Given the description of an element on the screen output the (x, y) to click on. 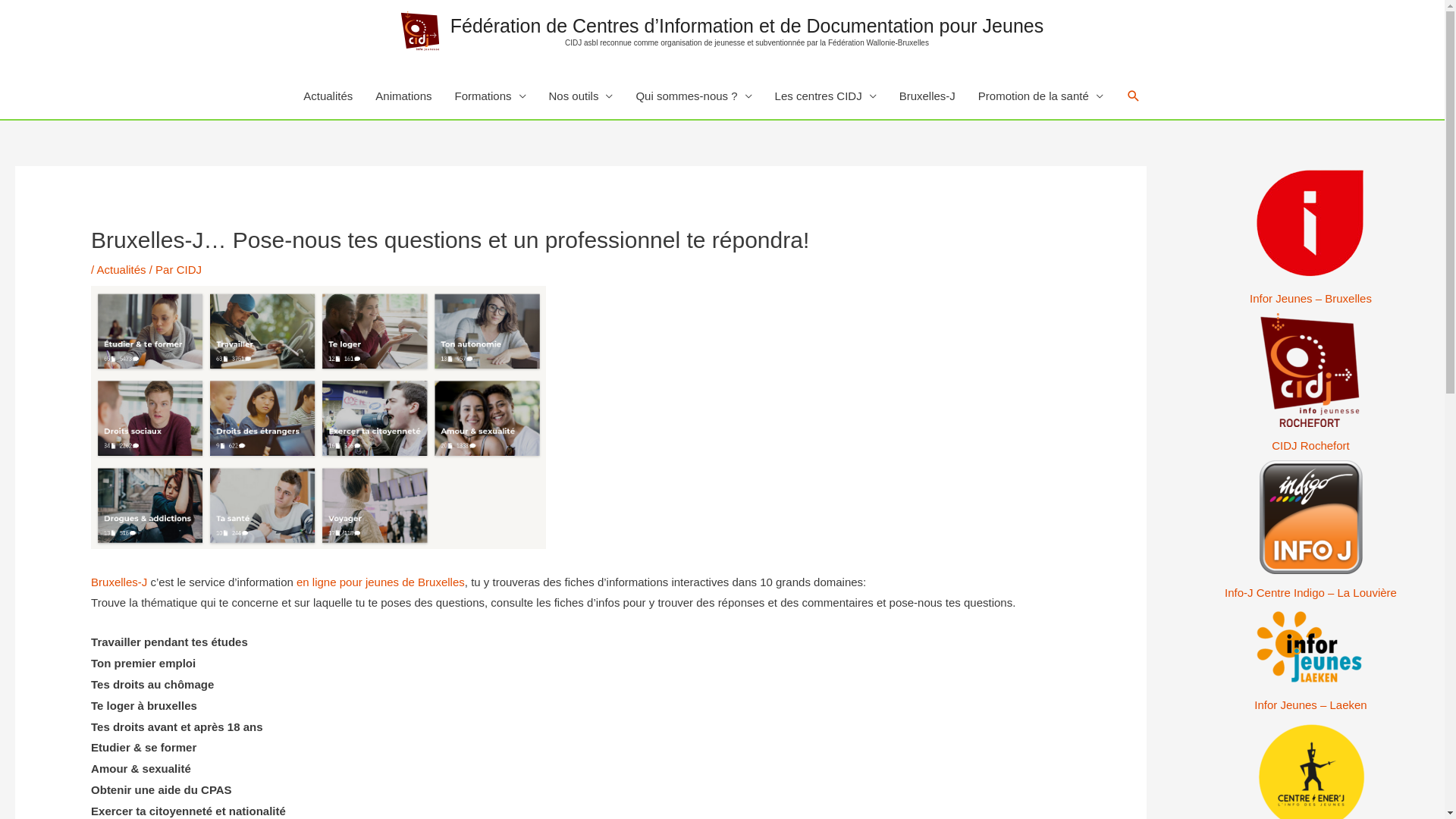
Bruxelles-J Element type: text (927, 96)
Rechercher Element type: text (1133, 95)
CIDJ Element type: text (188, 269)
Nos outils Element type: text (580, 96)
Bruxelles-J Element type: text (119, 581)
en ligne pour jeunes de Bruxelles Element type: text (380, 581)
Les centres CIDJ Element type: text (825, 96)
Animations Element type: text (403, 96)
Formations Element type: text (489, 96)
Qui sommes-nous ? Element type: text (693, 96)
CIDJ Rochefort Element type: text (1310, 385)
